Given the description of an element on the screen output the (x, y) to click on. 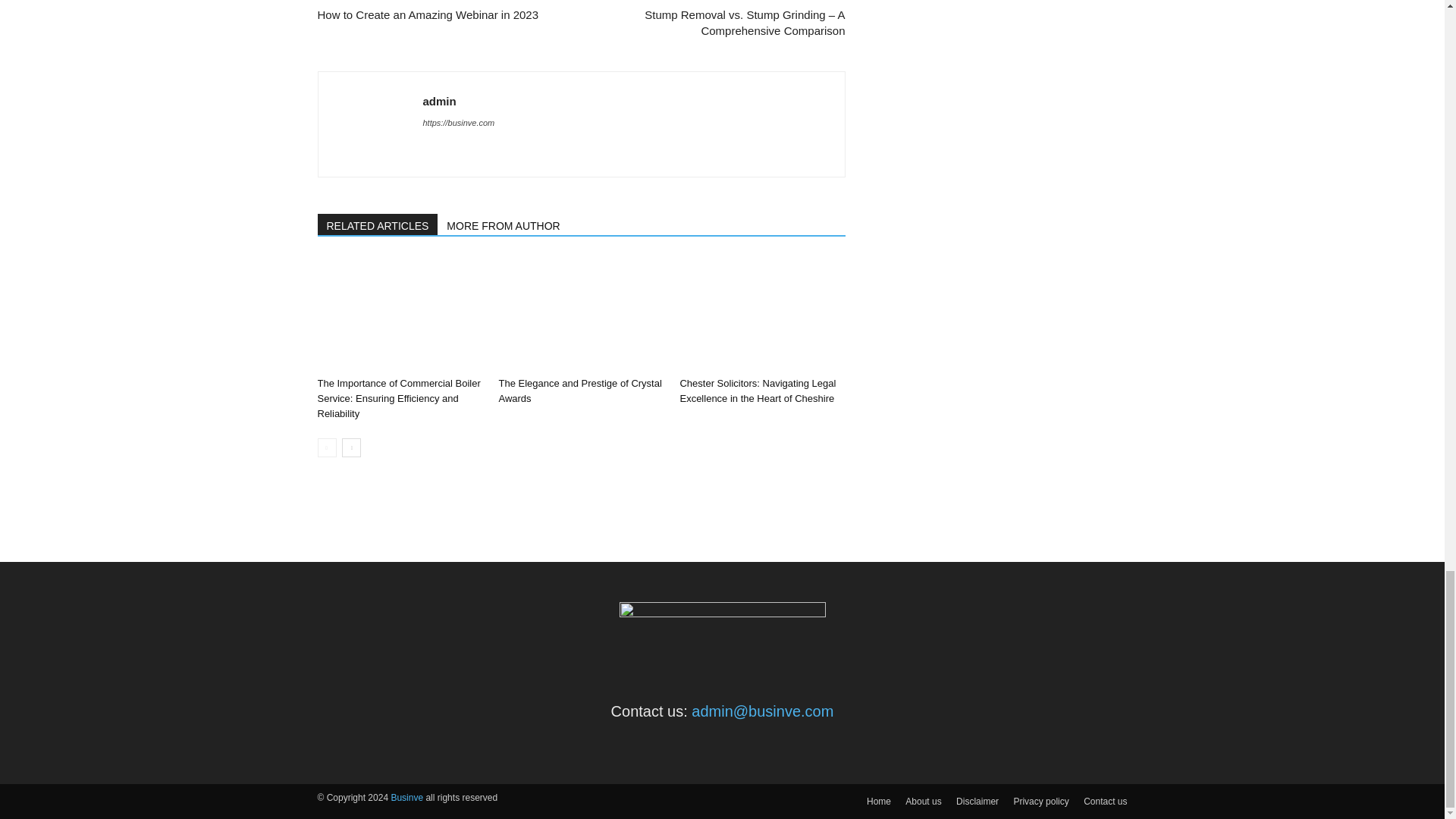
The Elegance and Prestige of Crystal Awards (580, 314)
The Elegance and Prestige of Crystal Awards (579, 390)
